Given the description of an element on the screen output the (x, y) to click on. 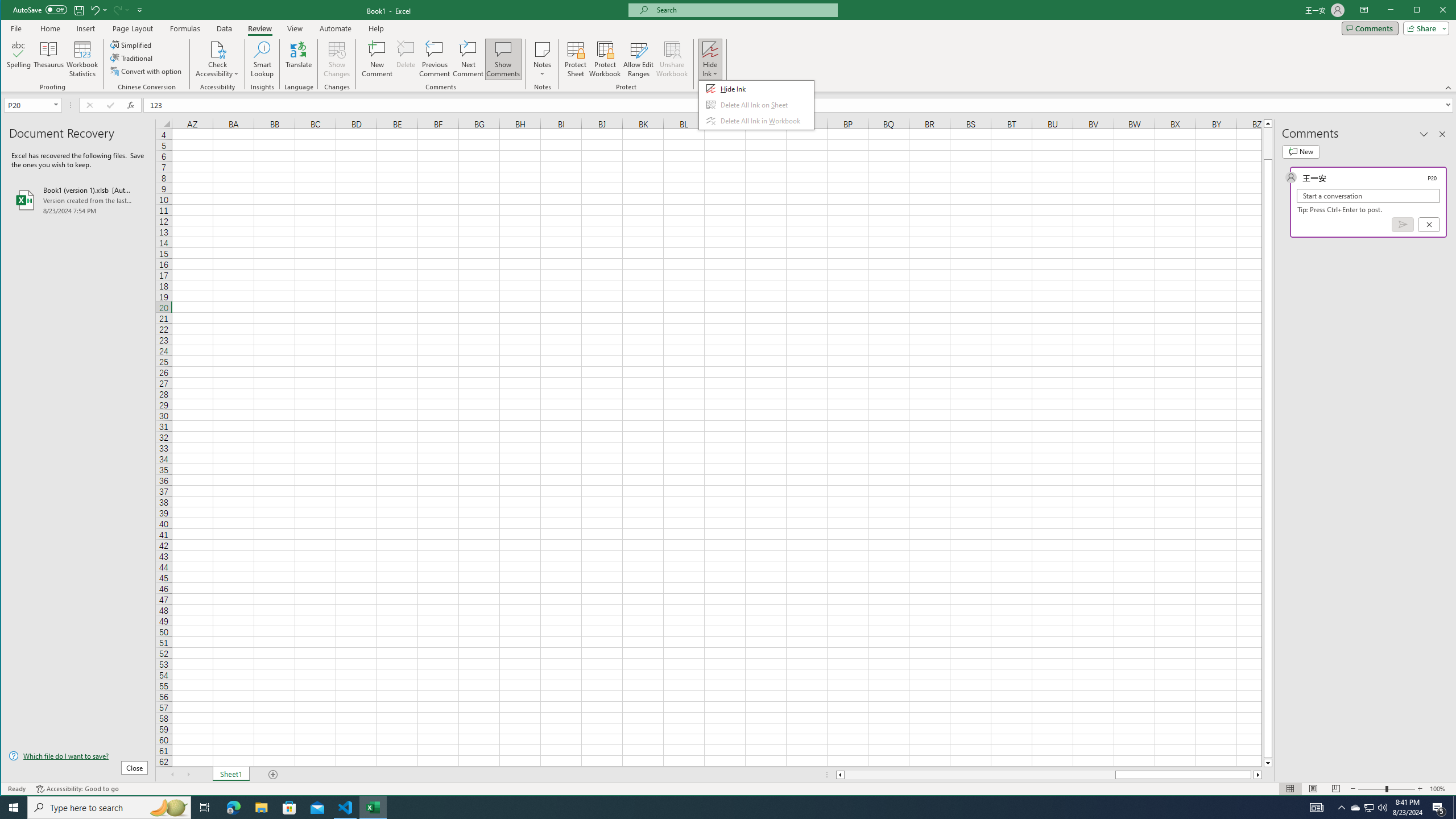
Show Comments (502, 59)
New Comment (377, 59)
Show Changes (335, 59)
New comment (1300, 151)
Allow Edit Ranges (638, 59)
Protect Sheet... (575, 59)
